Given the description of an element on the screen output the (x, y) to click on. 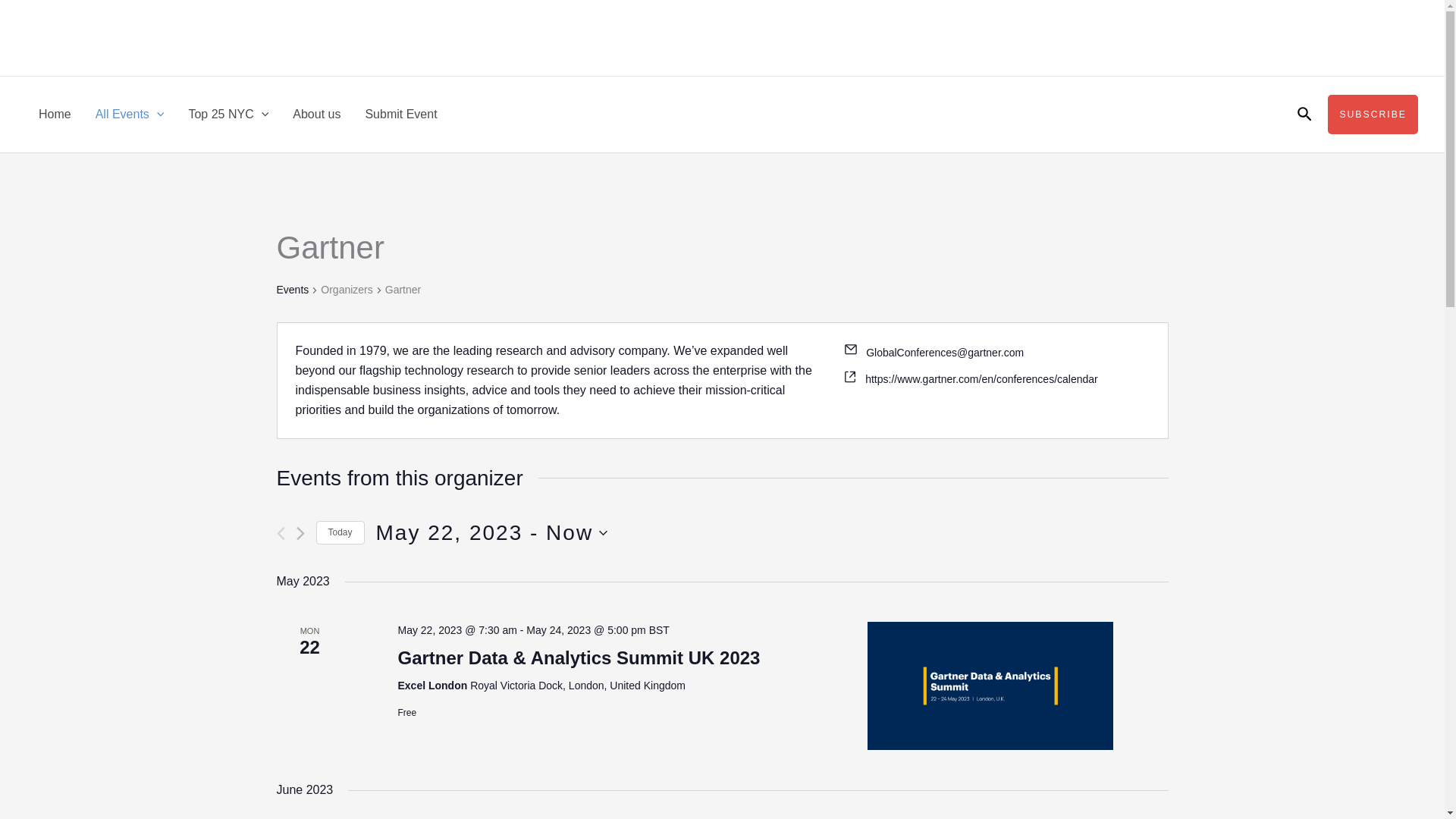
Search (1305, 115)
Click to toggle datepicker (491, 532)
Top 25 NYC (228, 114)
Click to select today's date (339, 532)
About us (316, 114)
Submit Event (400, 114)
Previous Events (279, 533)
Events (292, 290)
All Events (129, 114)
Today (339, 532)
Next Events (299, 533)
Home (54, 114)
SUBSCRIBE (491, 532)
